Given the description of an element on the screen output the (x, y) to click on. 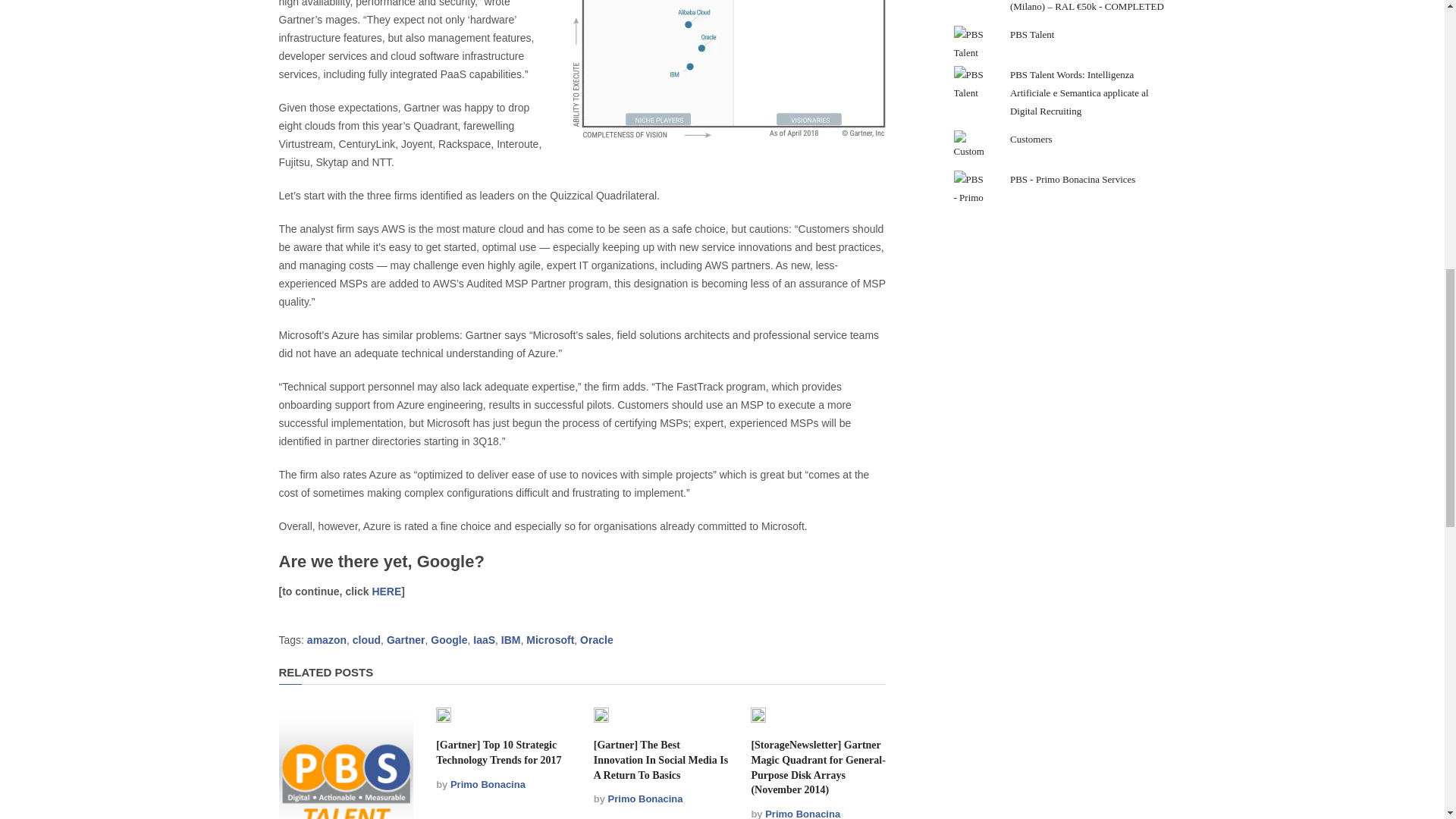
Gartner 2018 Magic Quadrant for infrastructure as a Service  (728, 69)
